Given the description of an element on the screen output the (x, y) to click on. 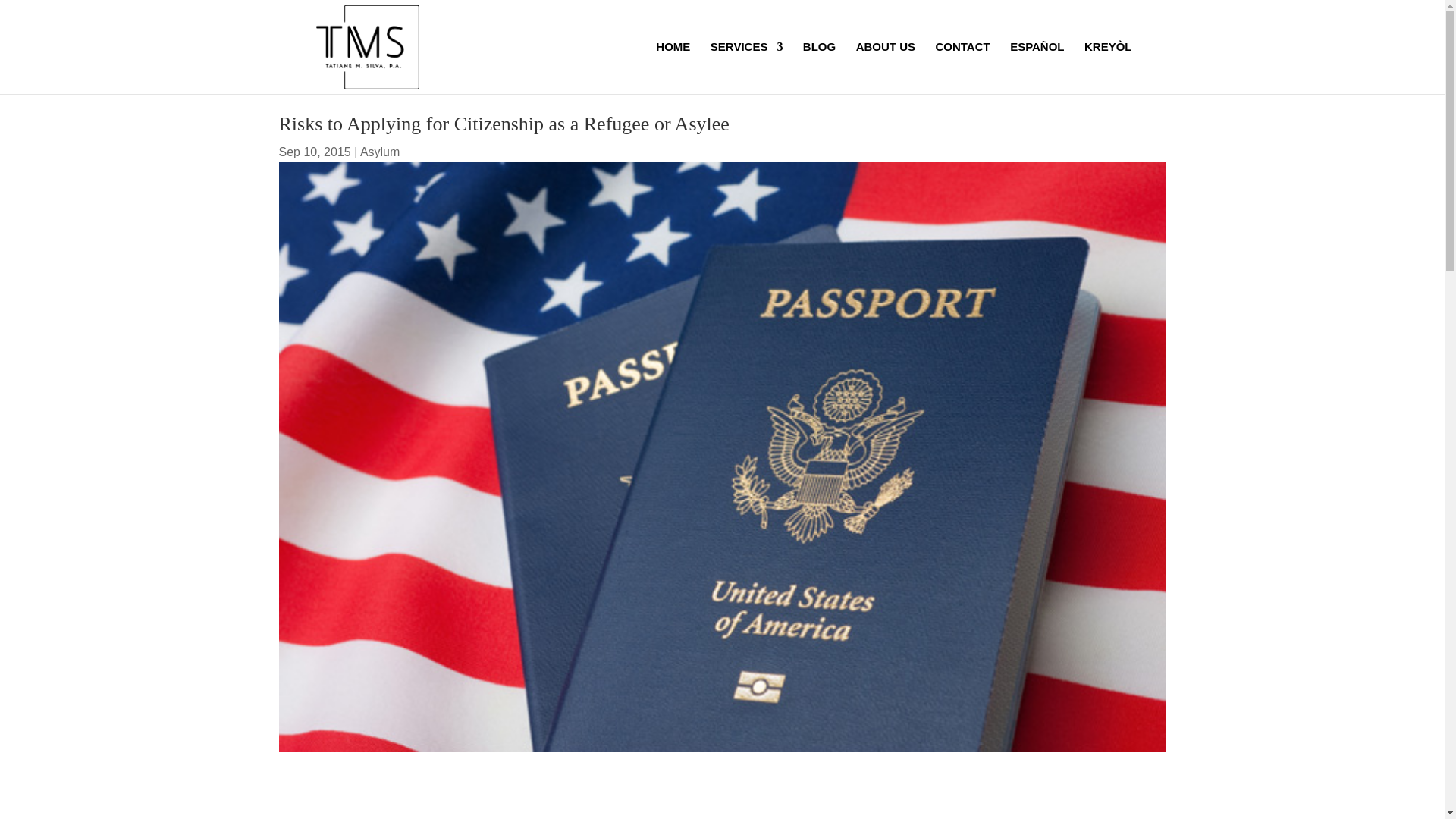
SERVICES (746, 67)
ABOUT US (885, 67)
CONTACT (962, 67)
